Given the description of an element on the screen output the (x, y) to click on. 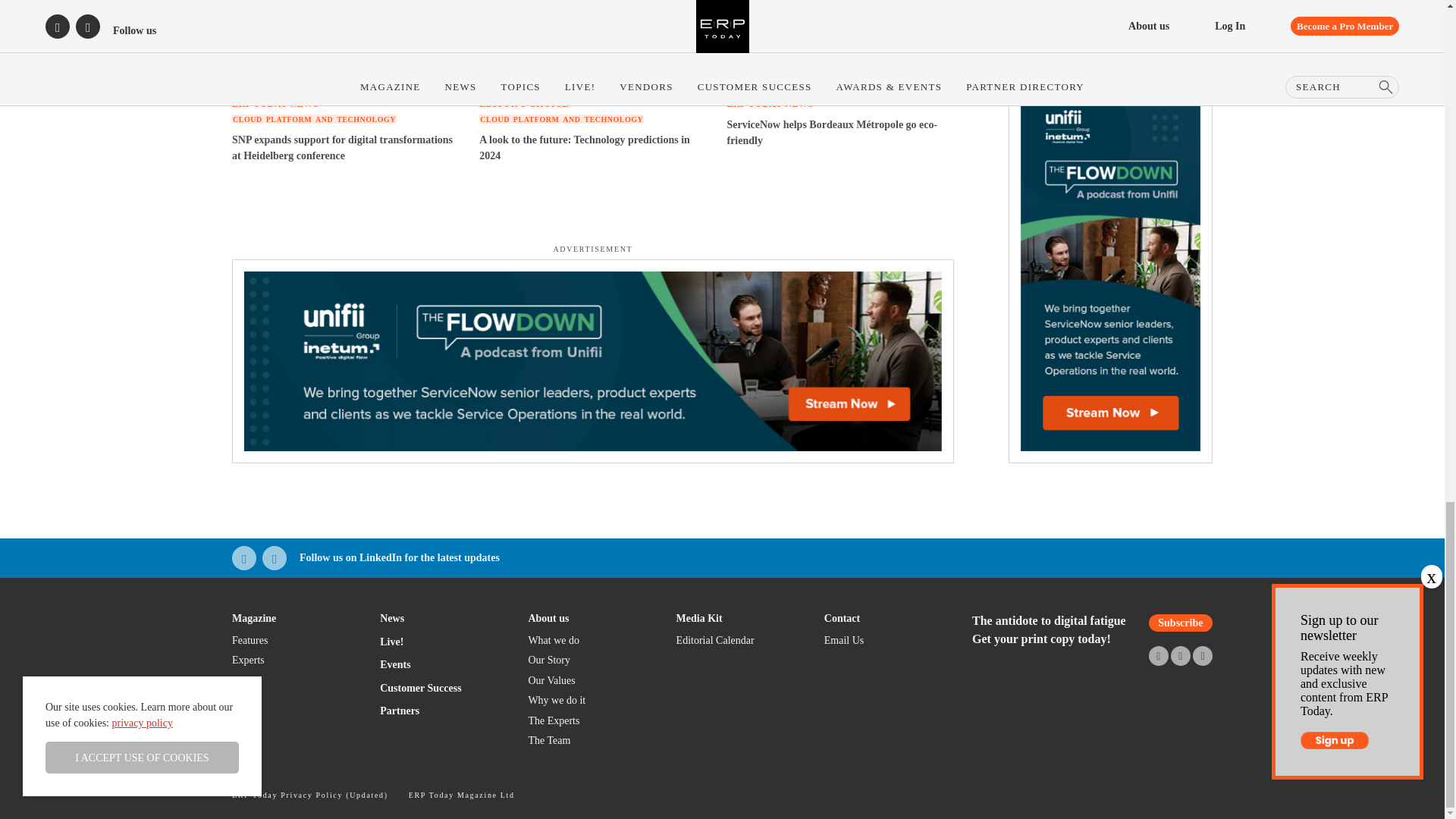
Test Title (842, 618)
